Given the description of an element on the screen output the (x, y) to click on. 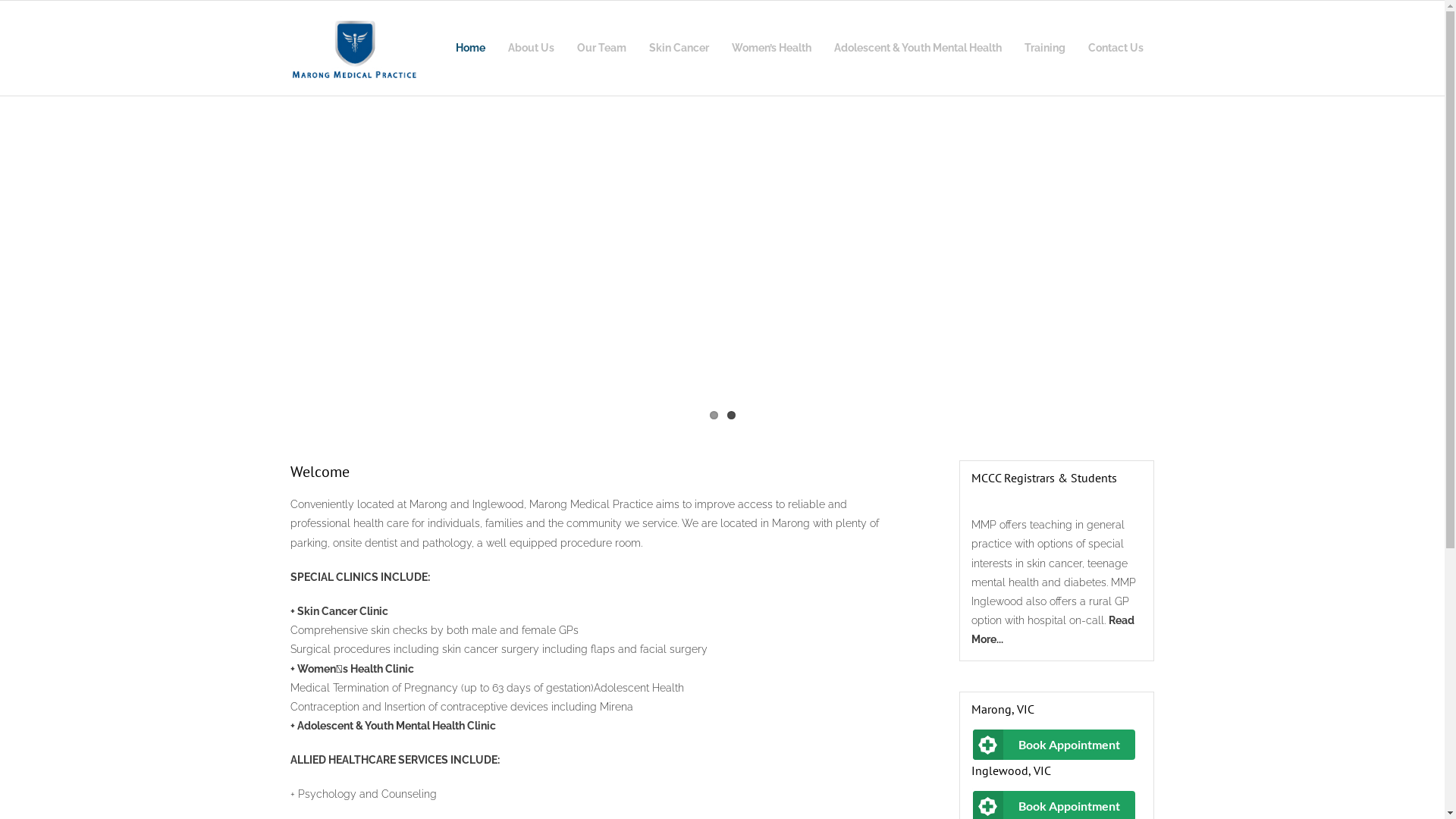
Skin Cancer Clinic Element type: text (342, 611)
Contact Us Element type: text (1115, 47)
Skin Cancer Element type: text (678, 47)
Training Element type: text (1044, 47)
Adolescent & Youth Mental Health Clinic Element type: text (396, 725)
Book Appointment Element type: text (1053, 744)
Read More... Element type: text (1052, 629)
Adolescent & Youth Mental Health Element type: text (917, 47)
1 Element type: text (713, 415)
2 Element type: text (730, 415)
About Us Element type: text (529, 47)
Home Element type: text (470, 47)
Our Team Element type: text (601, 47)
